Given the description of an element on the screen output the (x, y) to click on. 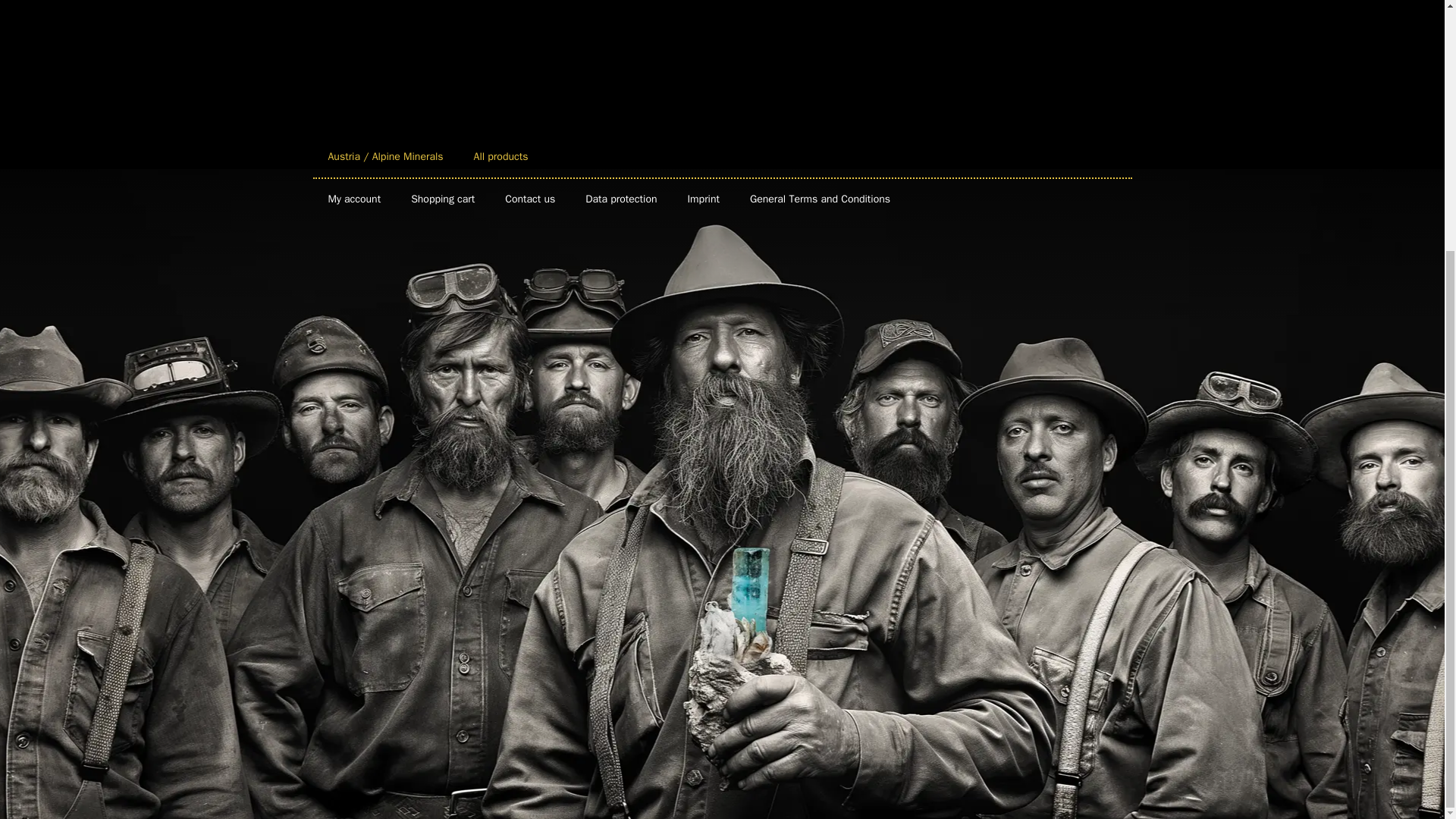
Contact us (529, 199)
Imprint (703, 199)
General Terms and Conditions (820, 199)
My account (354, 199)
Data protection (620, 199)
All products (500, 156)
Shopping cart (442, 199)
